Given the description of an element on the screen output the (x, y) to click on. 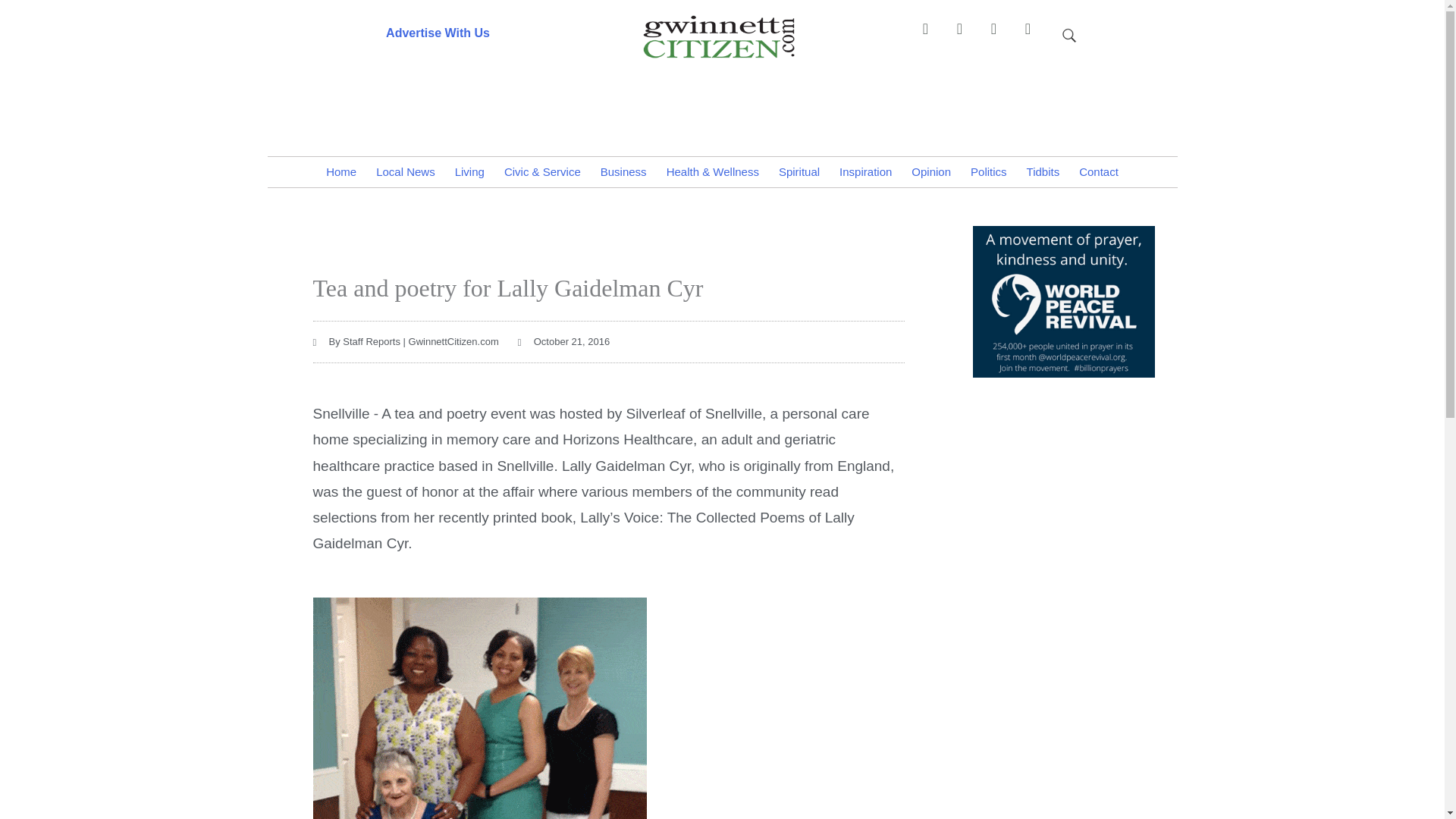
Local News (405, 172)
Twitter (1000, 36)
Tidbits (1043, 172)
Home (340, 172)
Contact (1098, 172)
Youtube (1034, 36)
Opinion (930, 172)
Living (470, 172)
Advertise With Us (437, 32)
Politics (988, 172)
Spiritual (798, 172)
Facebook (932, 36)
Business (623, 172)
Pinterest (966, 36)
